Given the description of an element on the screen output the (x, y) to click on. 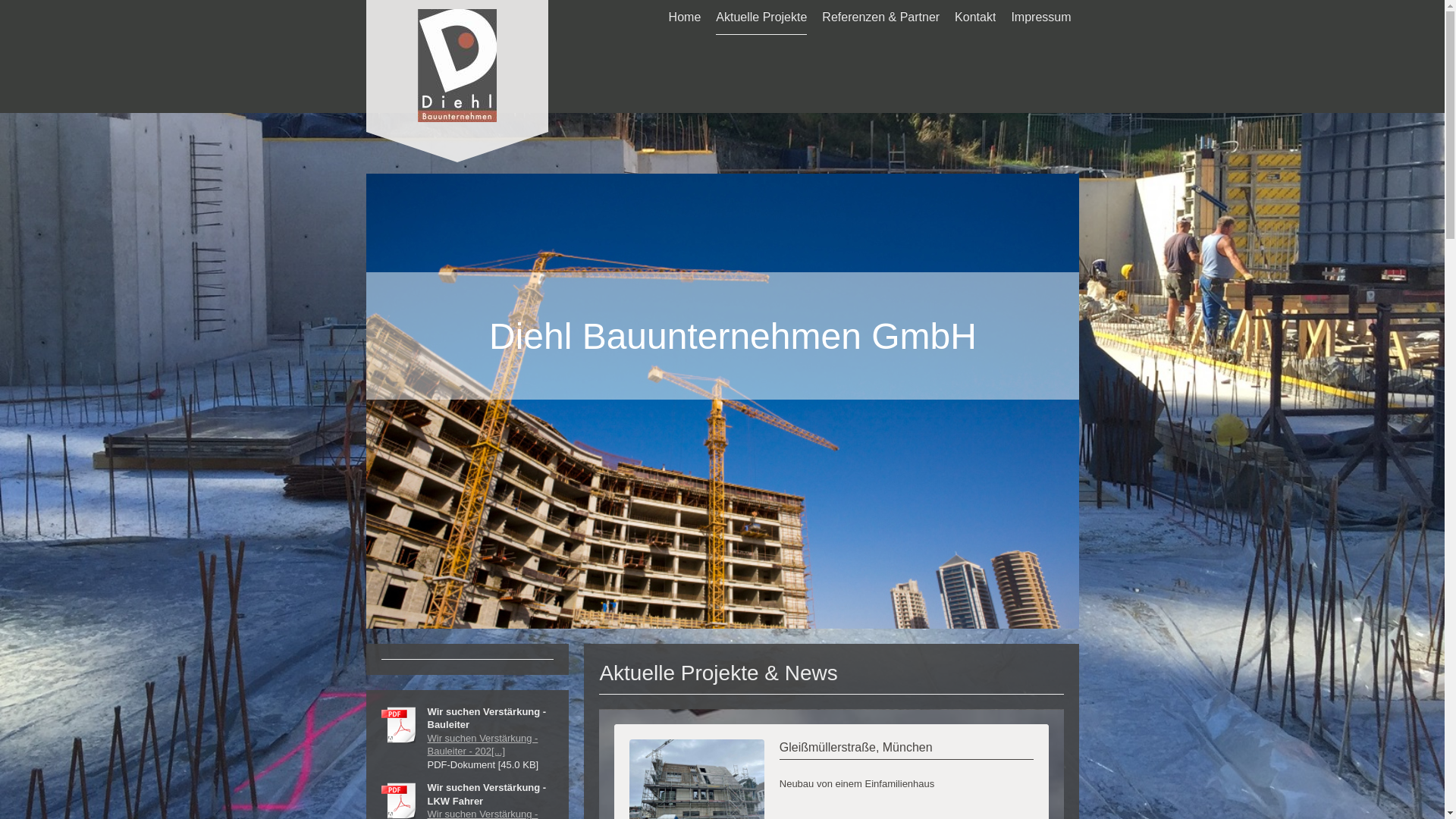
Aktuelle Projekte Element type: text (760, 17)
Referenzen & Partner Element type: text (880, 17)
Impressum Element type: text (1040, 17)
Home Element type: text (684, 17)
Kontakt Element type: text (974, 17)
